Given the description of an element on the screen output the (x, y) to click on. 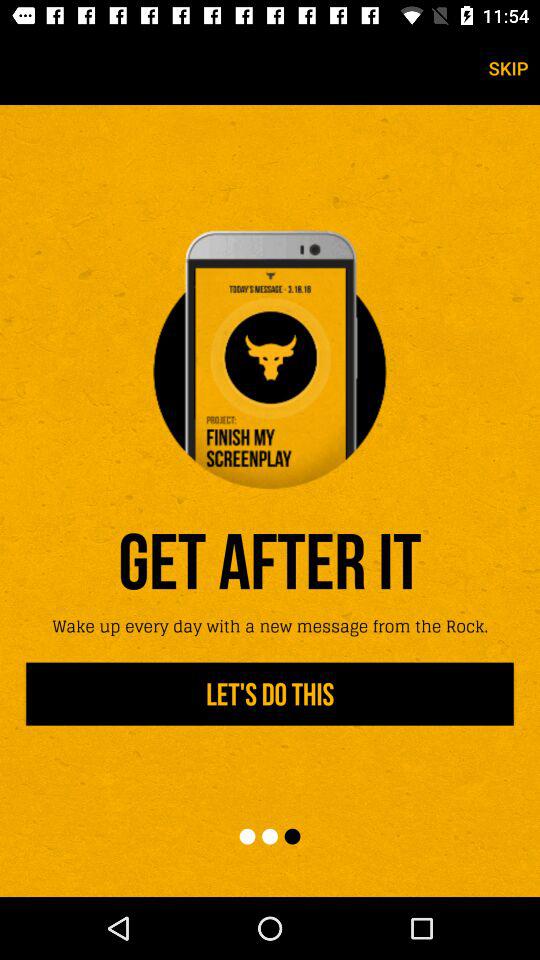
click the item below wake up every item (269, 693)
